Given the description of an element on the screen output the (x, y) to click on. 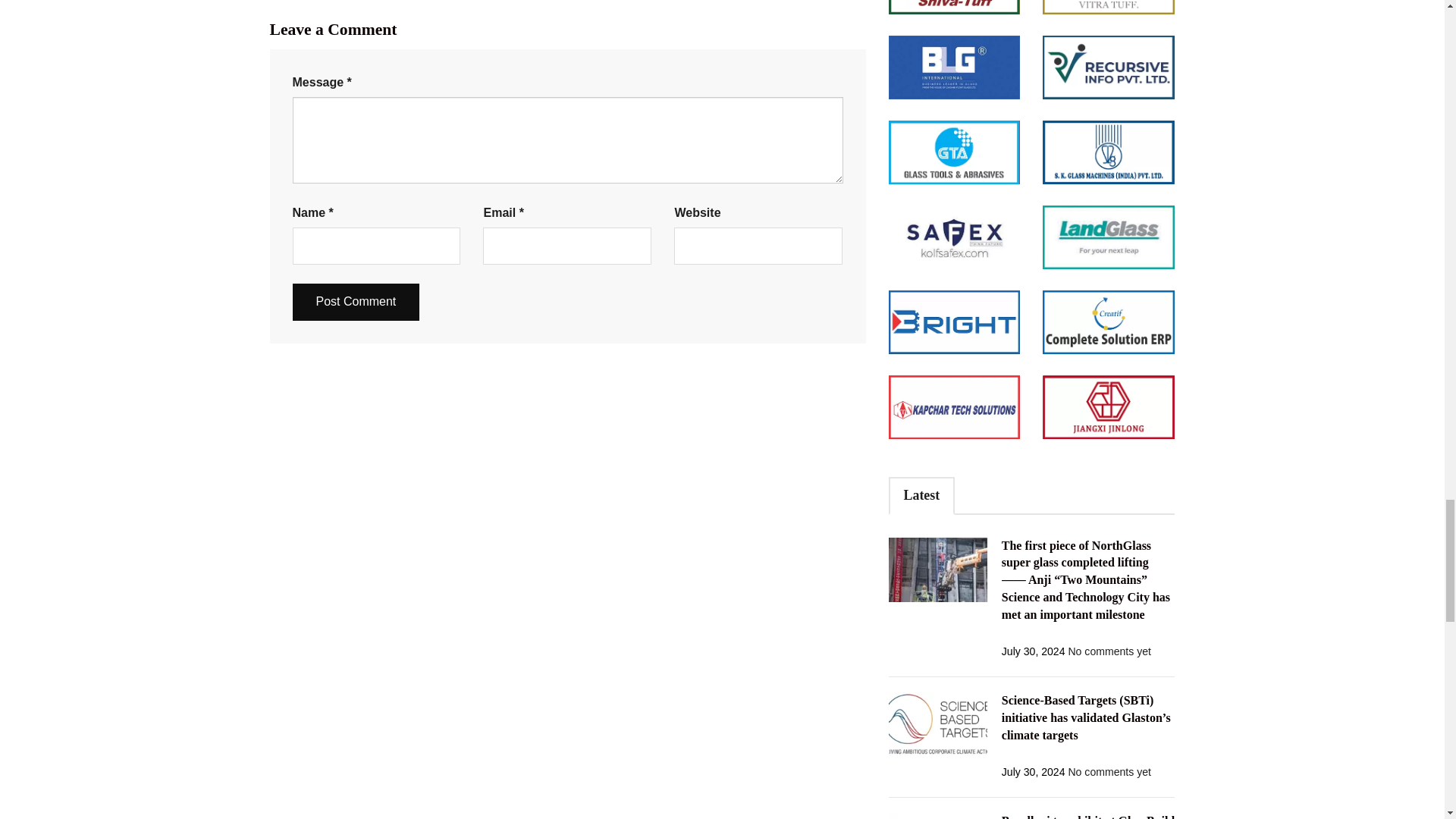
Post Comment (356, 302)
